Given the description of an element on the screen output the (x, y) to click on. 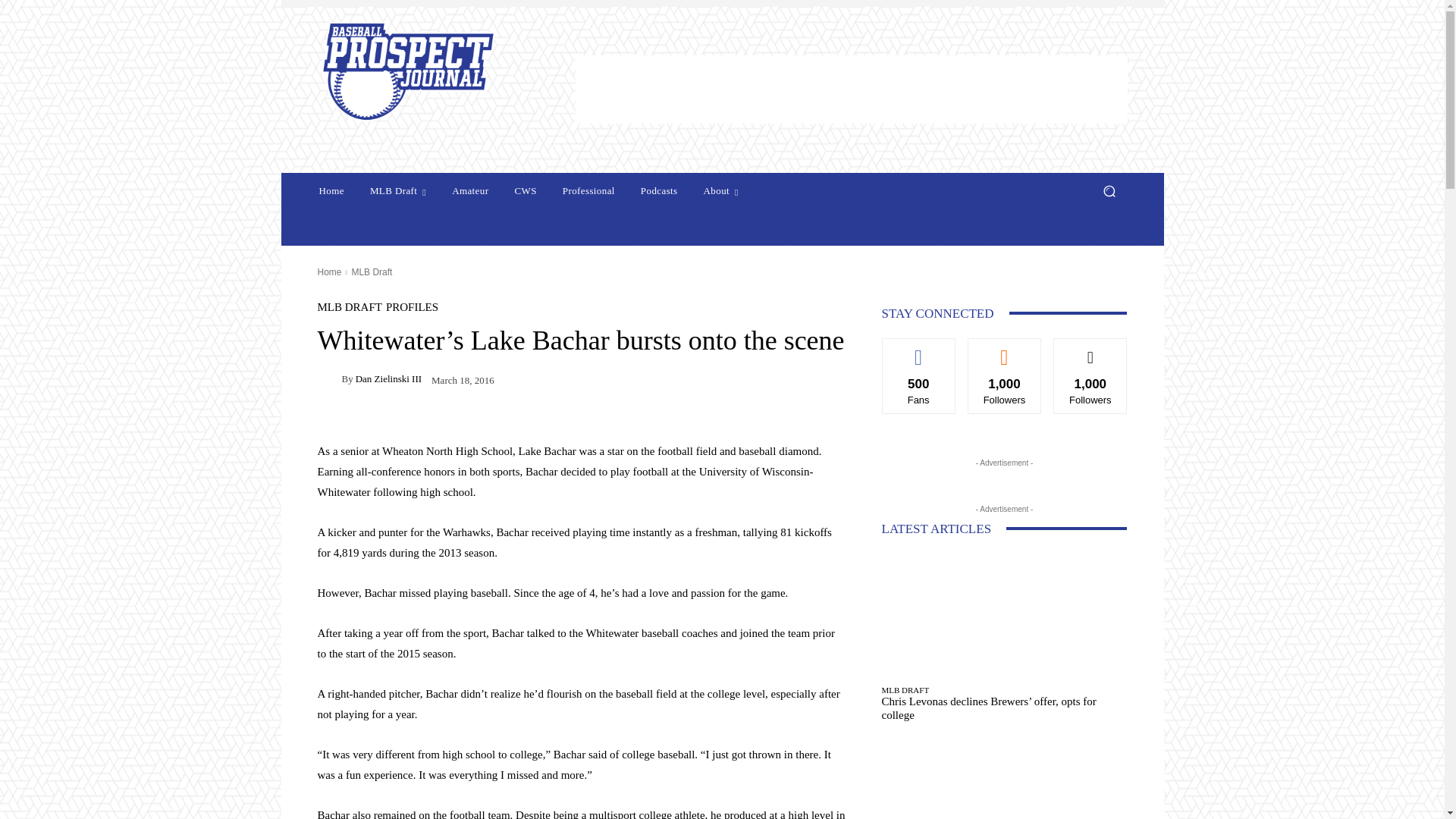
MLB Draft (398, 190)
Dan Zielinski III (328, 379)
Baseball Prospect Journal (427, 71)
CWS (524, 190)
Professional (588, 190)
About (721, 190)
Podcasts (659, 190)
Home (330, 190)
Amateur (469, 190)
View all posts in MLB Draft (370, 271)
